Given the description of an element on the screen output the (x, y) to click on. 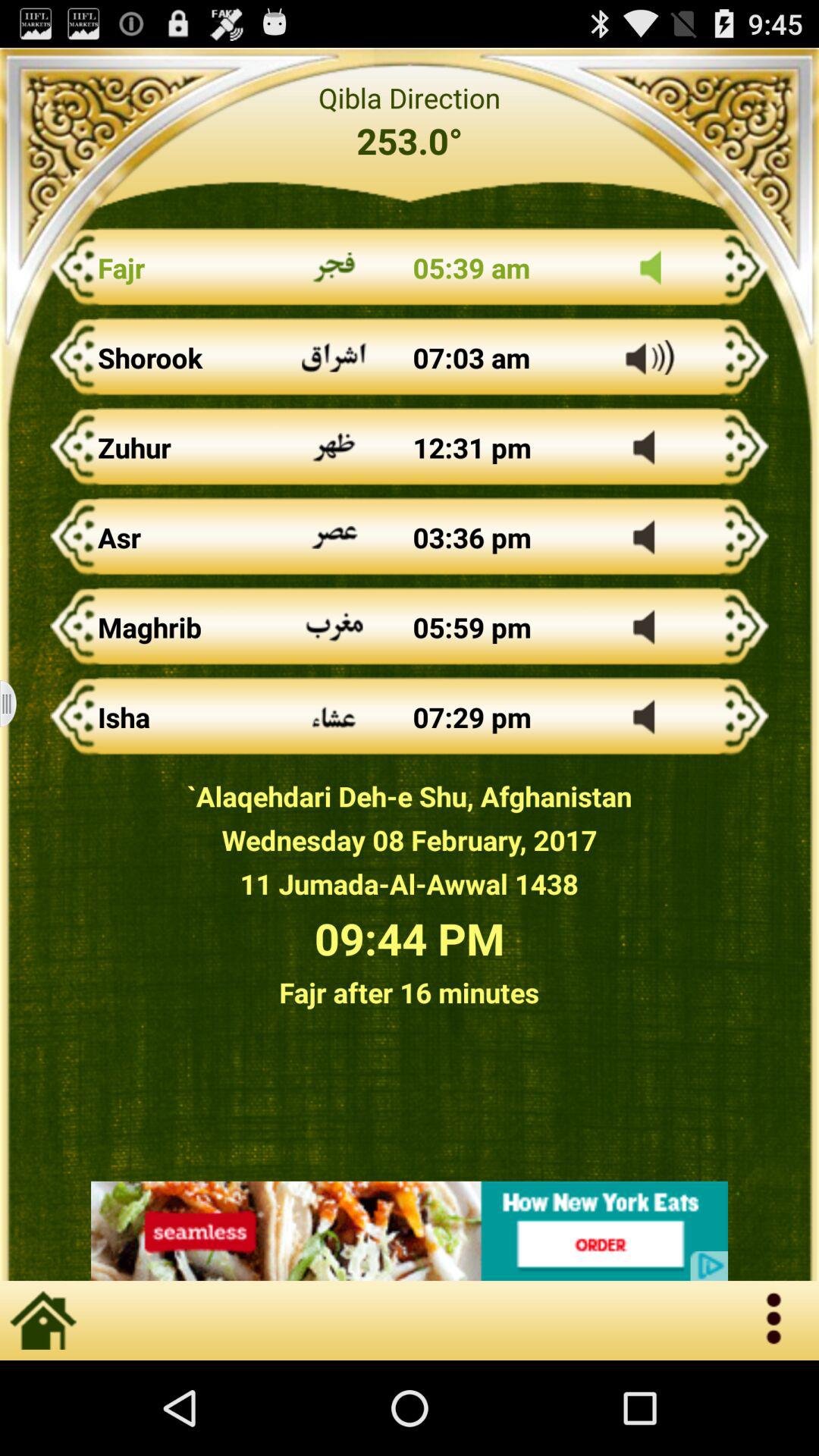
go back (409, 1230)
